Given the description of an element on the screen output the (x, y) to click on. 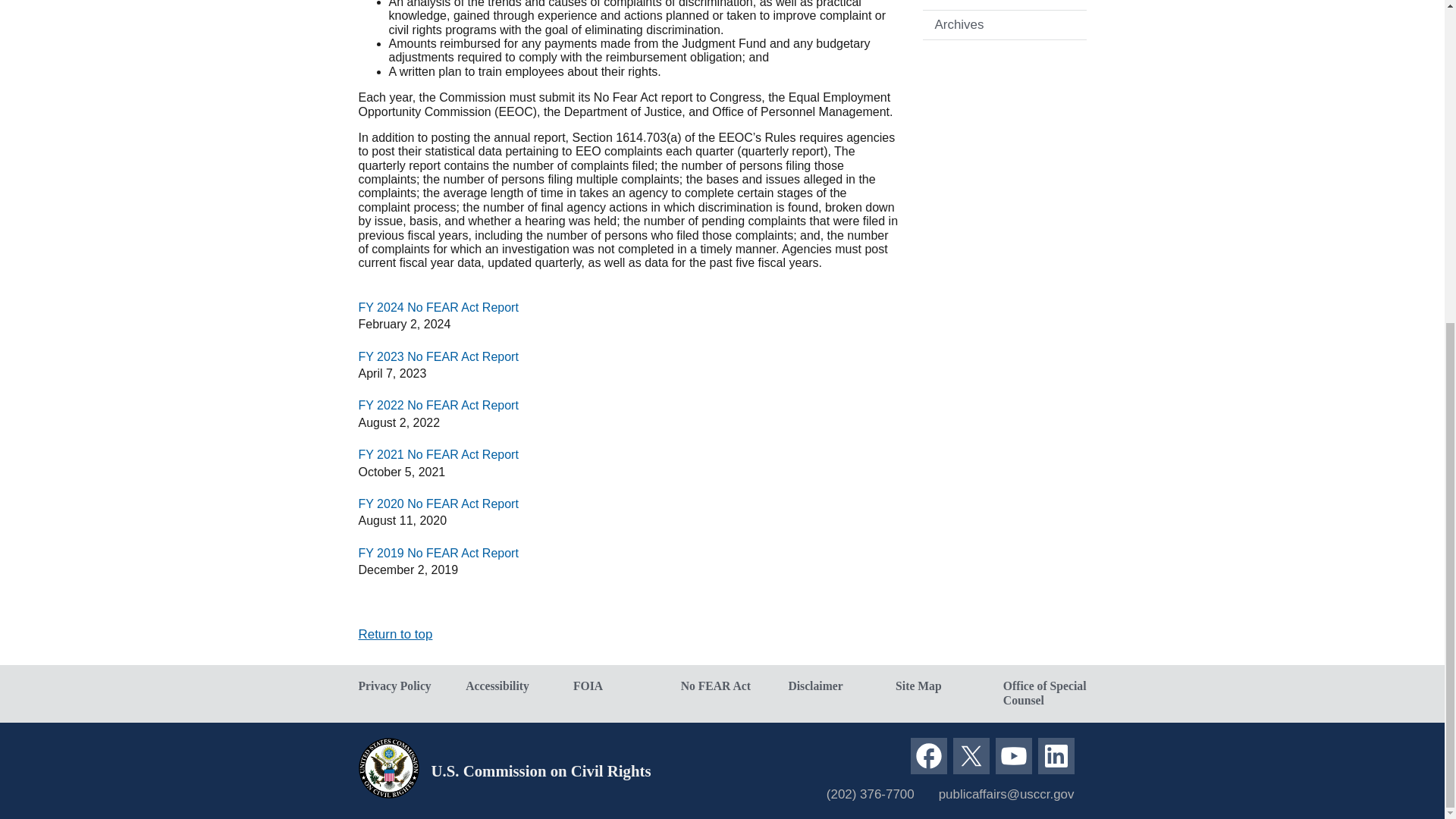
Privacy Policy (399, 686)
No FEAR Act (722, 686)
FY 2024 No FEAR Act Report (438, 307)
Return to top (395, 634)
FY 2019 No FEAR Act Report (438, 553)
FY 2022 No FEAR Act Report (438, 404)
FOIA (614, 686)
FY 2020 No FEAR Act Report (438, 503)
Historical Publications (1003, 4)
FY 2023 No FEAR Act Report (438, 356)
Archives (1003, 24)
Accessibility (506, 686)
Disclaimer (828, 686)
FY 2021 No FEAR Act Report (438, 454)
